Given the description of an element on the screen output the (x, y) to click on. 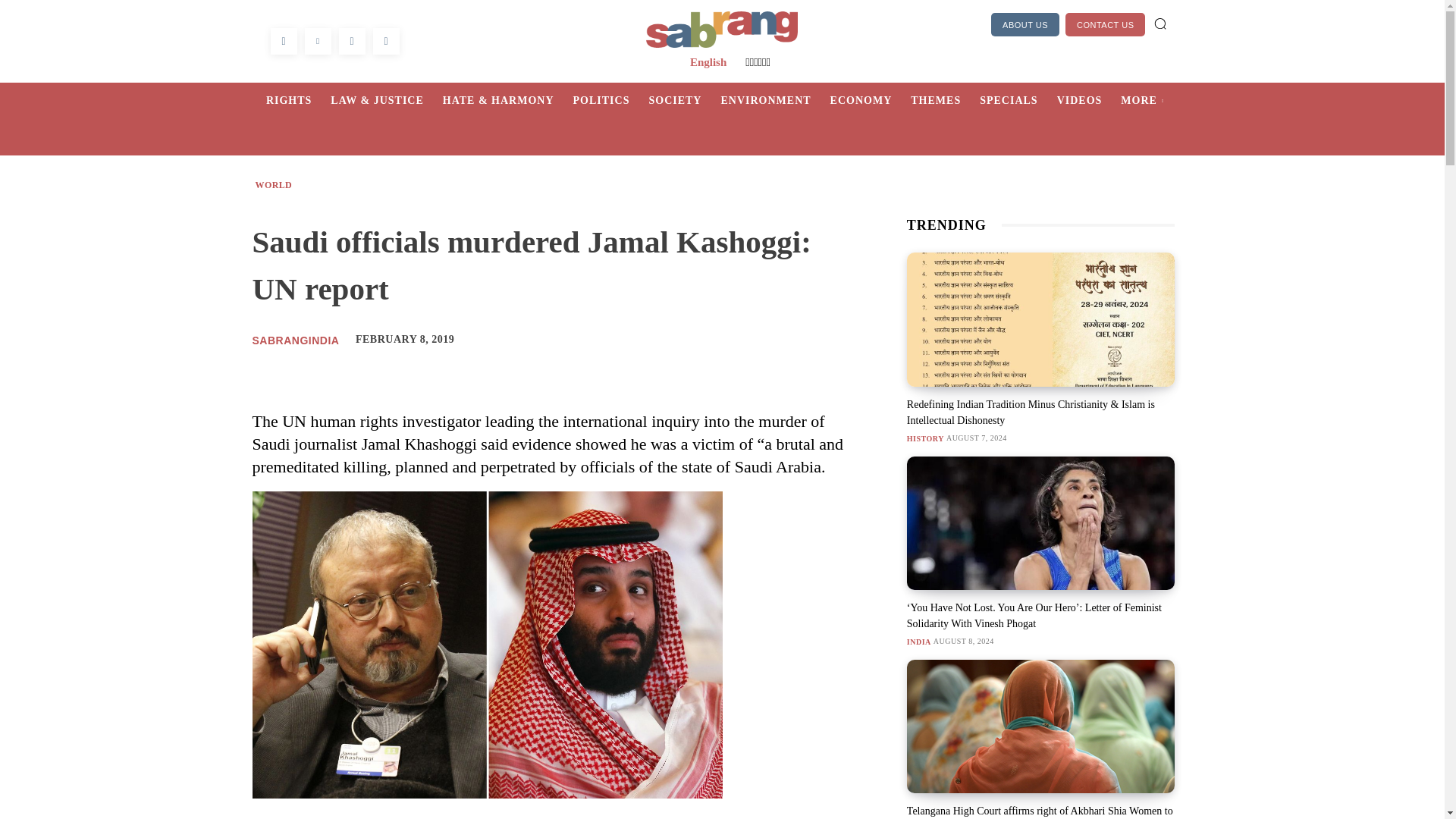
ECONOMY (870, 100)
RIGHTS (298, 100)
Facebook (283, 40)
English (708, 61)
THEMES (945, 100)
ENVIRONMENT (774, 100)
SOCIETY (683, 100)
POLITICS (611, 100)
Youtube (385, 40)
ABOUT US (1025, 24)
